Given the description of an element on the screen output the (x, y) to click on. 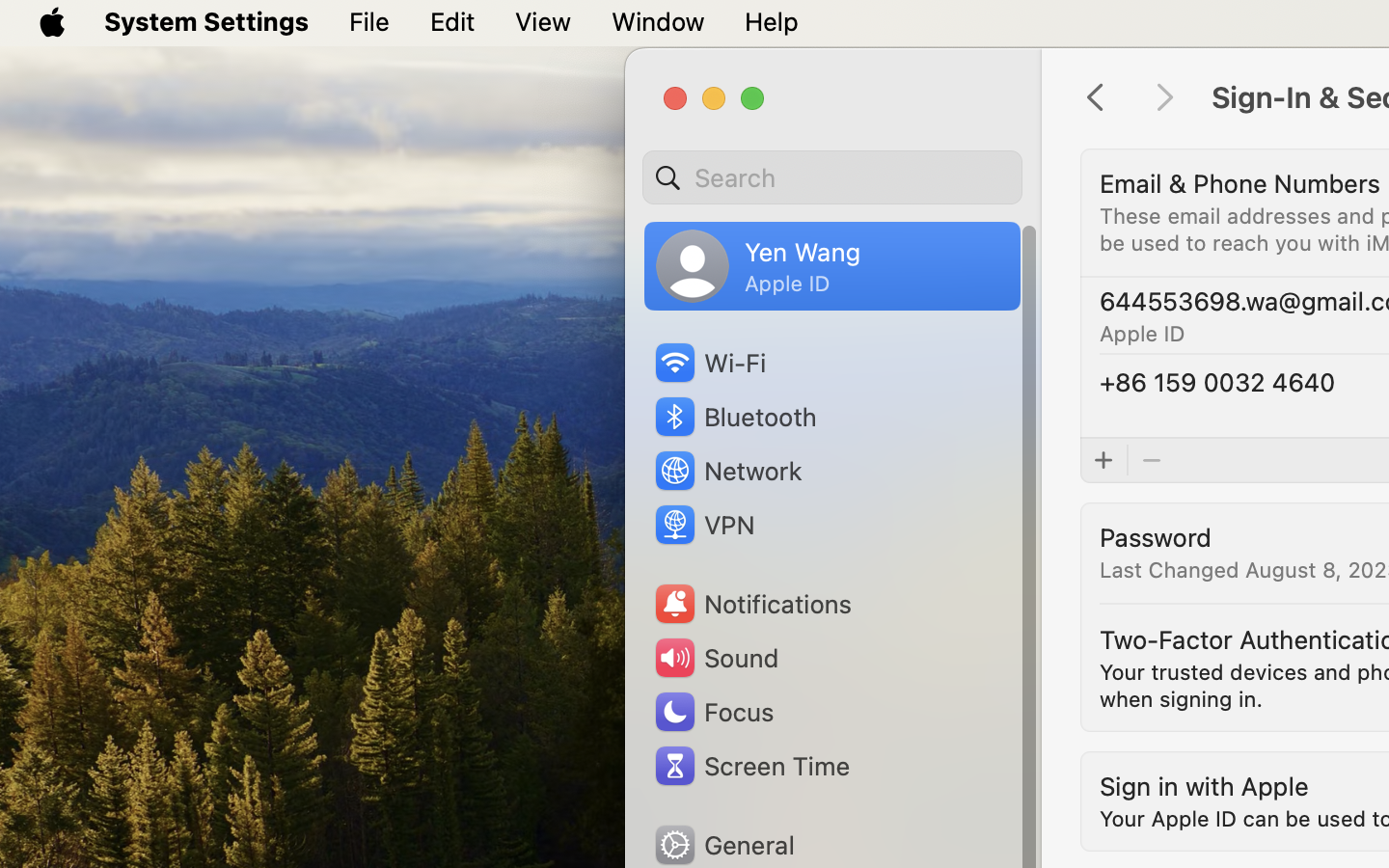
Password Element type: AXStaticText (1155, 535)
